Given the description of an element on the screen output the (x, y) to click on. 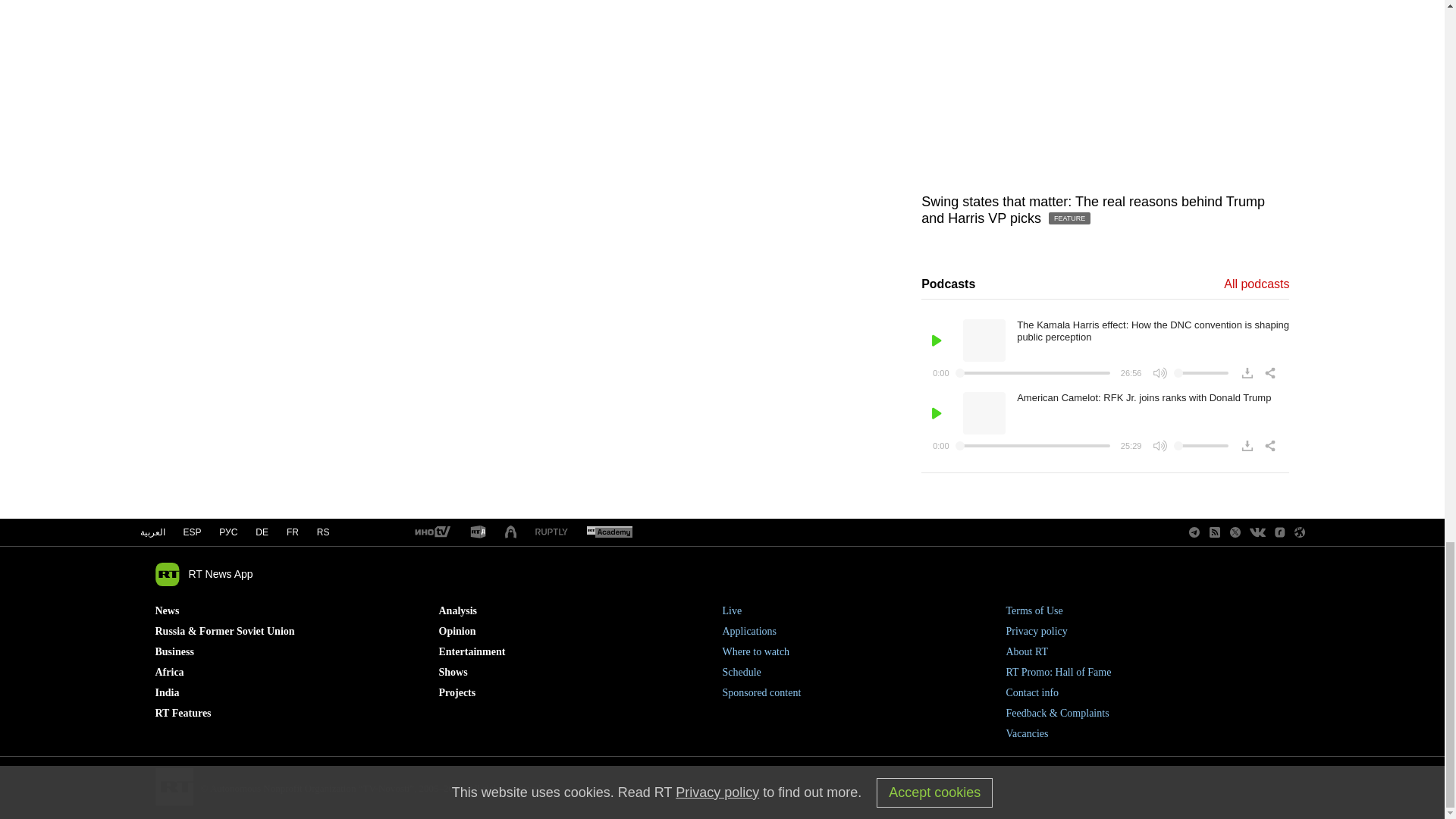
RT  (431, 532)
RT  (608, 532)
RT  (478, 532)
RT  (551, 532)
